Given the description of an element on the screen output the (x, y) to click on. 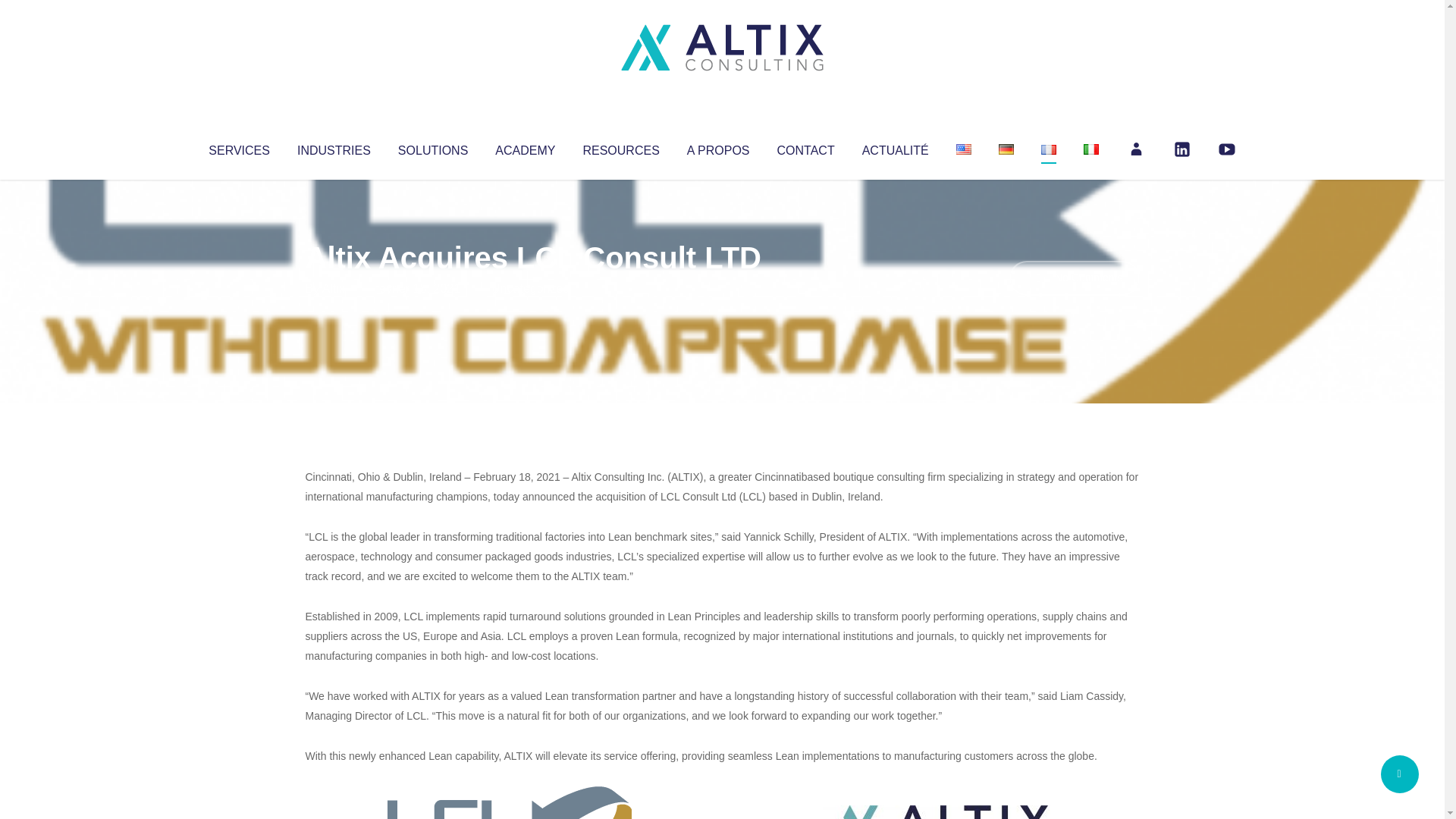
A PROPOS (718, 146)
SERVICES (238, 146)
SOLUTIONS (432, 146)
ACADEMY (524, 146)
Articles par Altix (333, 287)
Uncategorized (530, 287)
No Comments (1073, 278)
RESOURCES (620, 146)
INDUSTRIES (334, 146)
Altix (333, 287)
